Given the description of an element on the screen output the (x, y) to click on. 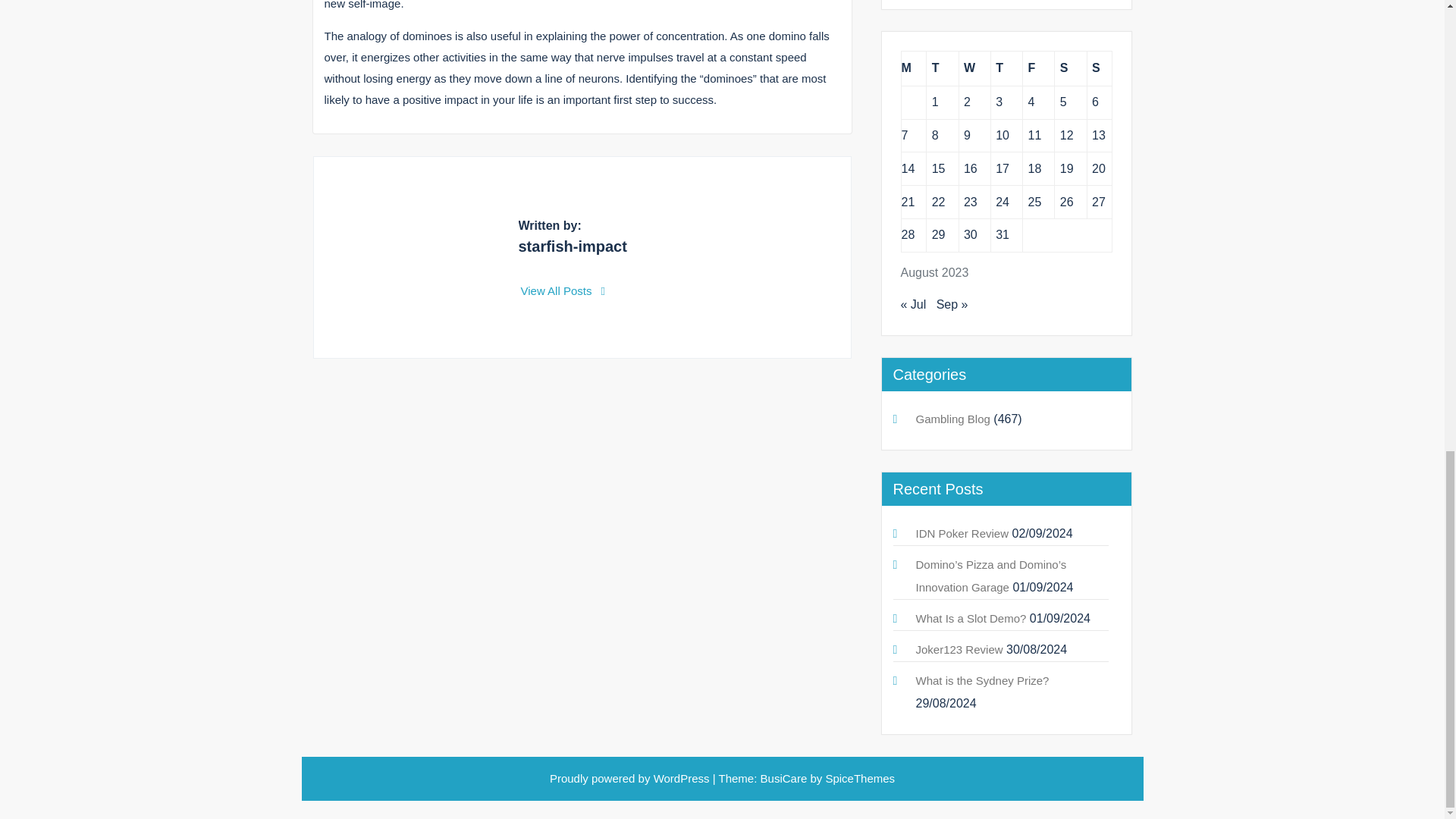
View All Posts (562, 290)
Friday (1038, 68)
Tuesday (942, 68)
13 (1098, 134)
15 (937, 168)
12 (1066, 134)
14 (907, 168)
Saturday (1070, 68)
Thursday (1006, 68)
10 (1002, 134)
